Given the description of an element on the screen output the (x, y) to click on. 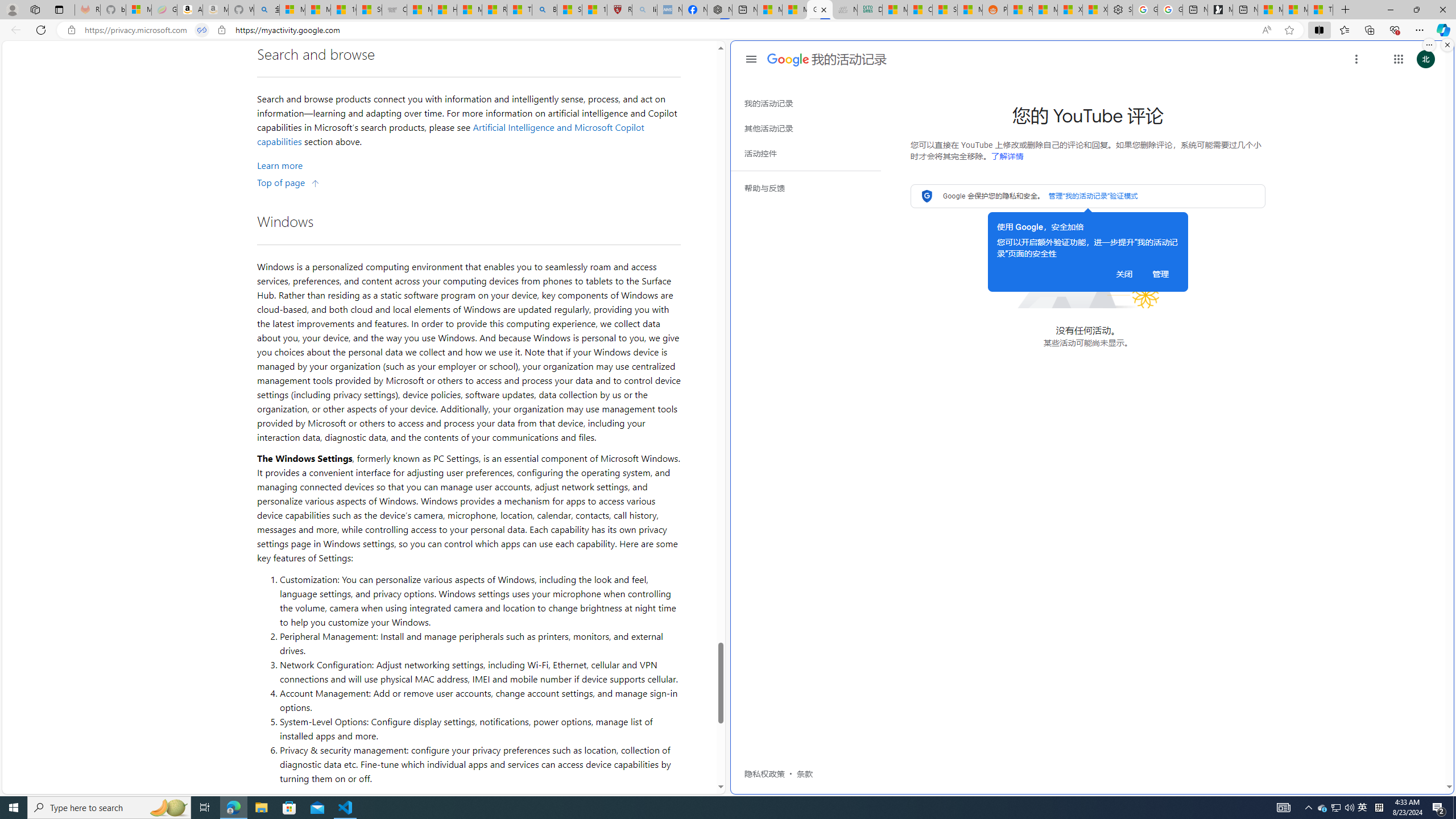
Navy Quest (844, 9)
Back (13, 29)
Microsoft account | Privacy (292, 9)
How I Got Rid of Microsoft Edge's Unnecessary Features (443, 9)
Copilot (Ctrl+Shift+.) (1442, 29)
Personal Profile (12, 9)
Close split screen. (1447, 45)
Robert H. Shmerling, MD - Harvard Health (619, 9)
